Given the description of an element on the screen output the (x, y) to click on. 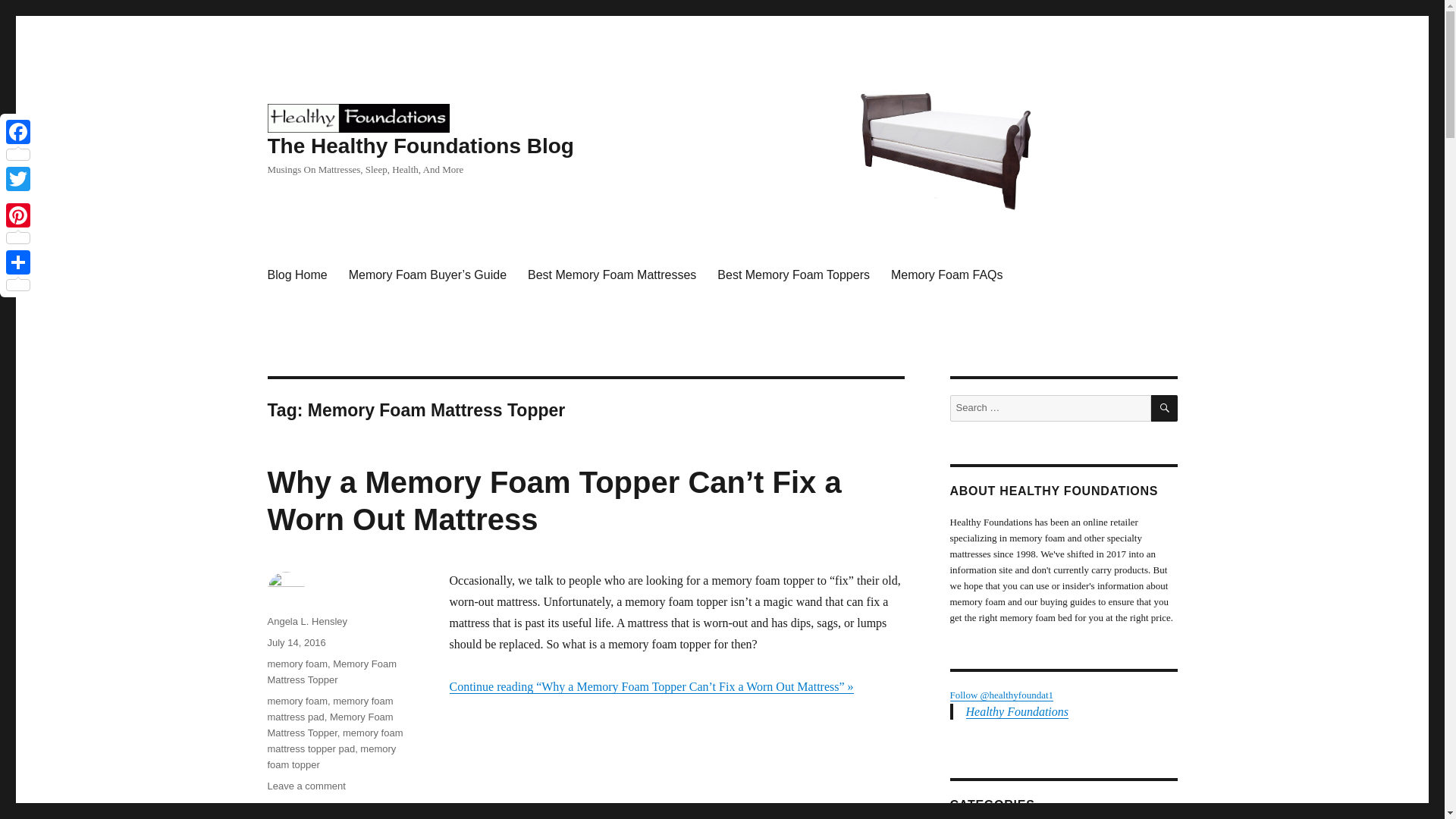
memory foam mattress topper pad (334, 740)
Best Memory Foam Mattresses (611, 275)
memory foam topper (331, 756)
The Healthy Foundations Blog (357, 116)
Memory Foam Mattress Topper (329, 724)
The Healthy Foundations Blog (419, 146)
Blog Home (296, 275)
memory foam mattress pad (329, 708)
Angela L. Hensley (306, 621)
July 14, 2016 (295, 642)
